Given the description of an element on the screen output the (x, y) to click on. 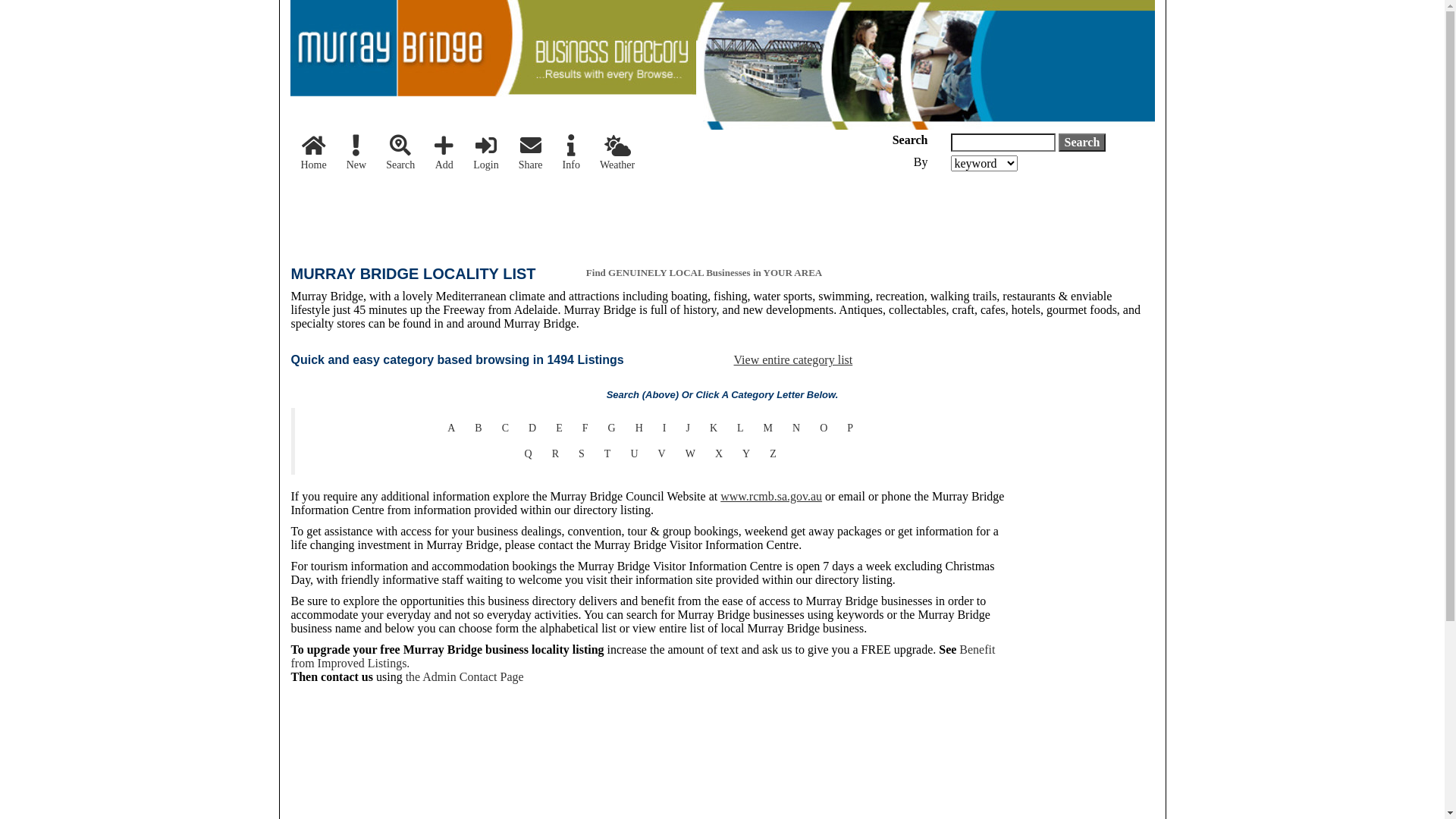
Advertisement Element type: hover (567, 212)
W Element type: text (690, 454)
A Element type: text (450, 428)
Q Element type: text (528, 454)
Search Element type: text (1082, 142)
Home Element type: text (313, 153)
Info Element type: text (570, 153)
R Element type: text (555, 454)
the Admin Contact Page Element type: text (464, 676)
M Element type: text (767, 428)
Y Element type: text (745, 454)
K Element type: text (713, 428)
E Element type: text (559, 428)
P Element type: text (849, 428)
U Element type: text (633, 454)
O Element type: text (823, 428)
H Element type: text (638, 428)
View entire category list Element type: text (793, 359)
J Element type: text (687, 428)
V Element type: text (661, 454)
D Element type: text (532, 428)
Benefit from Improved Listings. Element type: text (643, 656)
S Element type: text (581, 454)
C Element type: text (505, 428)
Z Element type: text (772, 454)
G Element type: text (611, 428)
Share Element type: text (530, 153)
Search Element type: text (400, 153)
Login Element type: text (485, 153)
Add Element type: text (443, 153)
New Element type: text (356, 153)
F Element type: text (585, 428)
T Element type: text (607, 454)
www.rcmb.sa.gov.au Element type: text (771, 495)
L Element type: text (740, 428)
N Element type: text (795, 428)
I Element type: text (664, 428)
B Element type: text (477, 428)
Weather Element type: text (616, 153)
X Element type: text (718, 454)
